Given the description of an element on the screen output the (x, y) to click on. 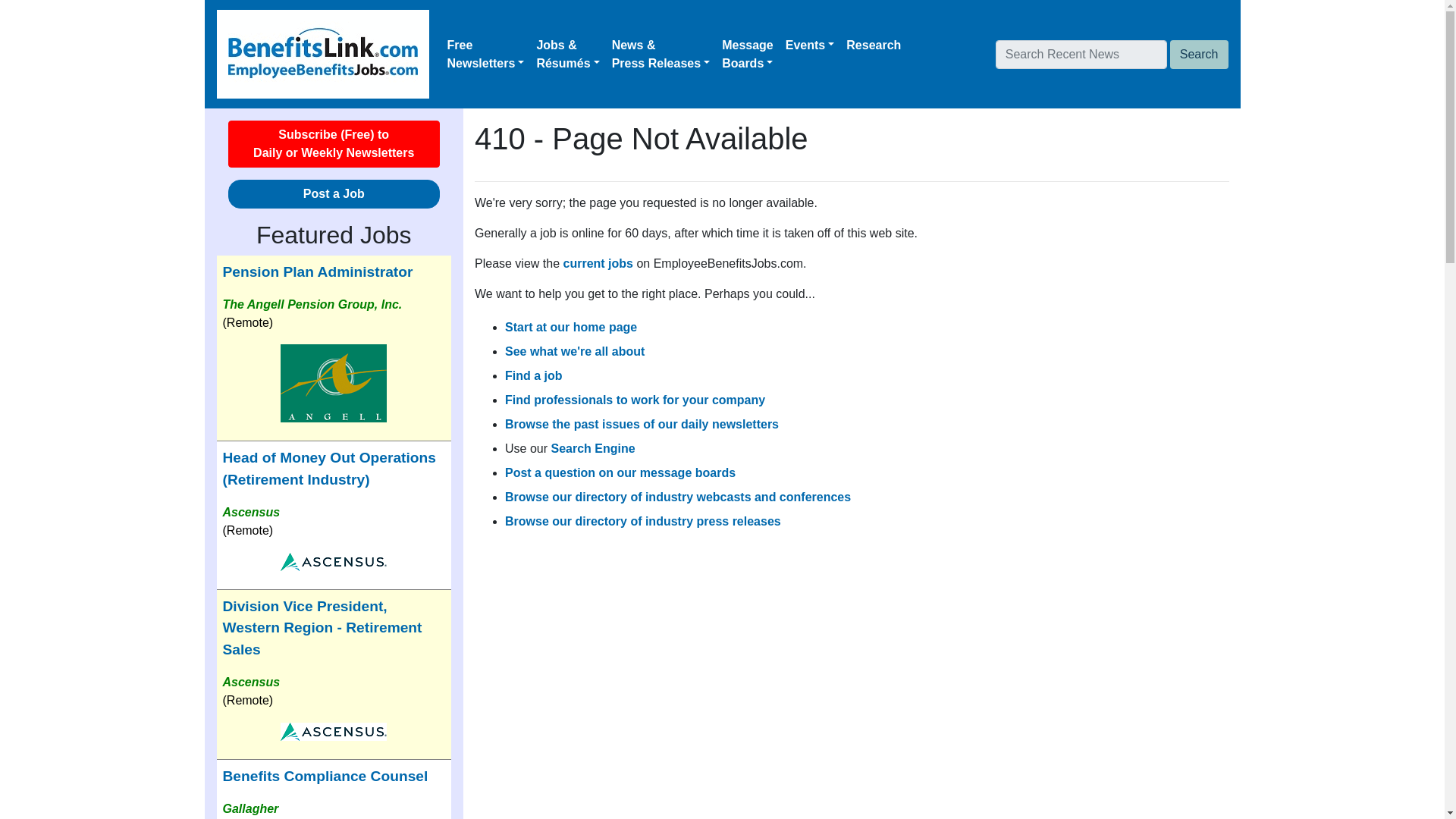
View job with The Angell Pension Group, Inc. (334, 382)
Research (873, 45)
Pension Plan Administrator (317, 271)
Post a Job (333, 193)
Post a Job (333, 193)
View job with Ascensus (747, 54)
Events (334, 561)
Division Vice President, Western Region - Retirement Sales (809, 45)
